Given the description of an element on the screen output the (x, y) to click on. 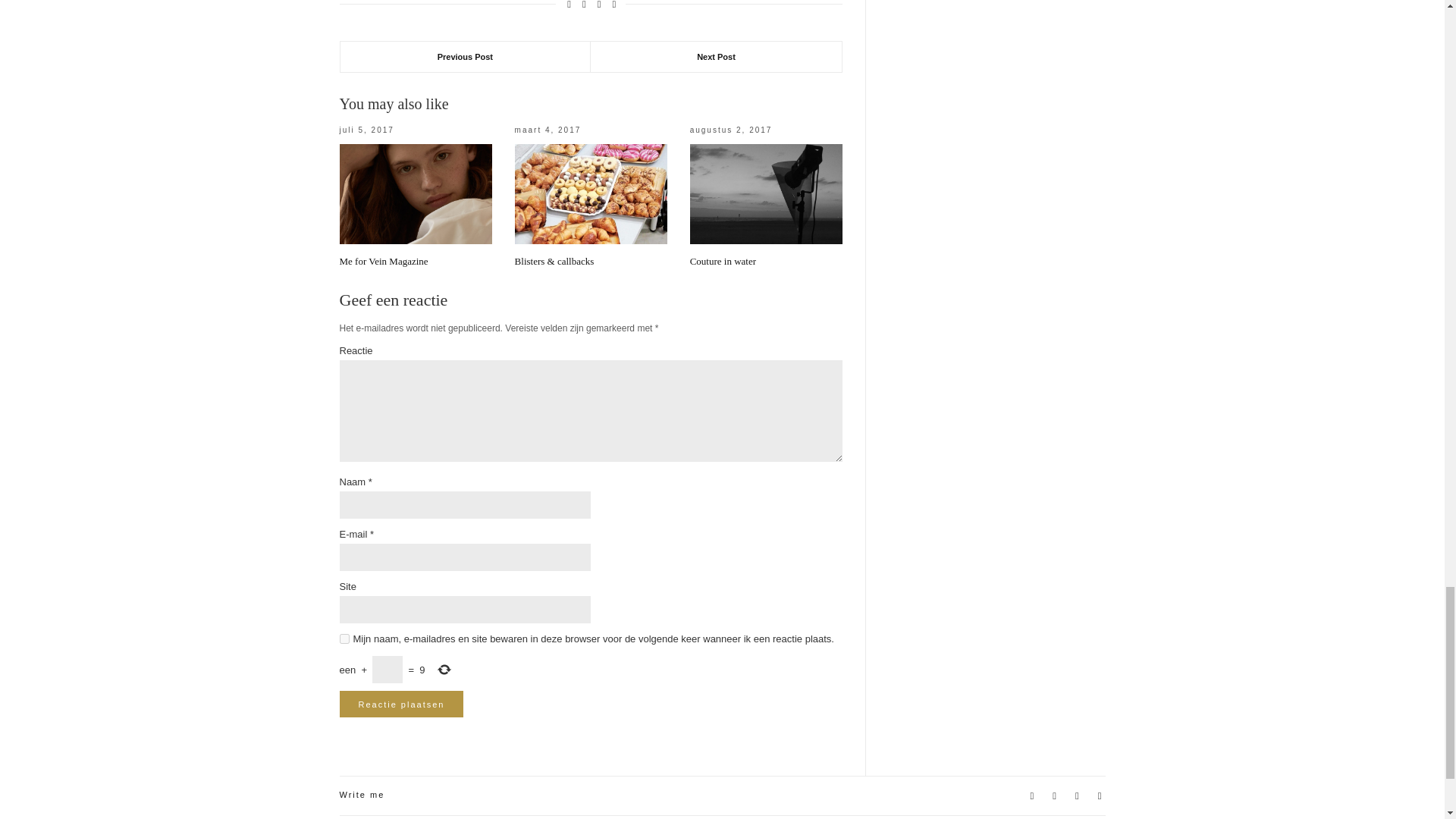
Me for Vein Magazine (383, 260)
Next Post (716, 56)
yes (344, 638)
Previous Post (465, 56)
Reactie plaatsen (401, 704)
